Given the description of an element on the screen output the (x, y) to click on. 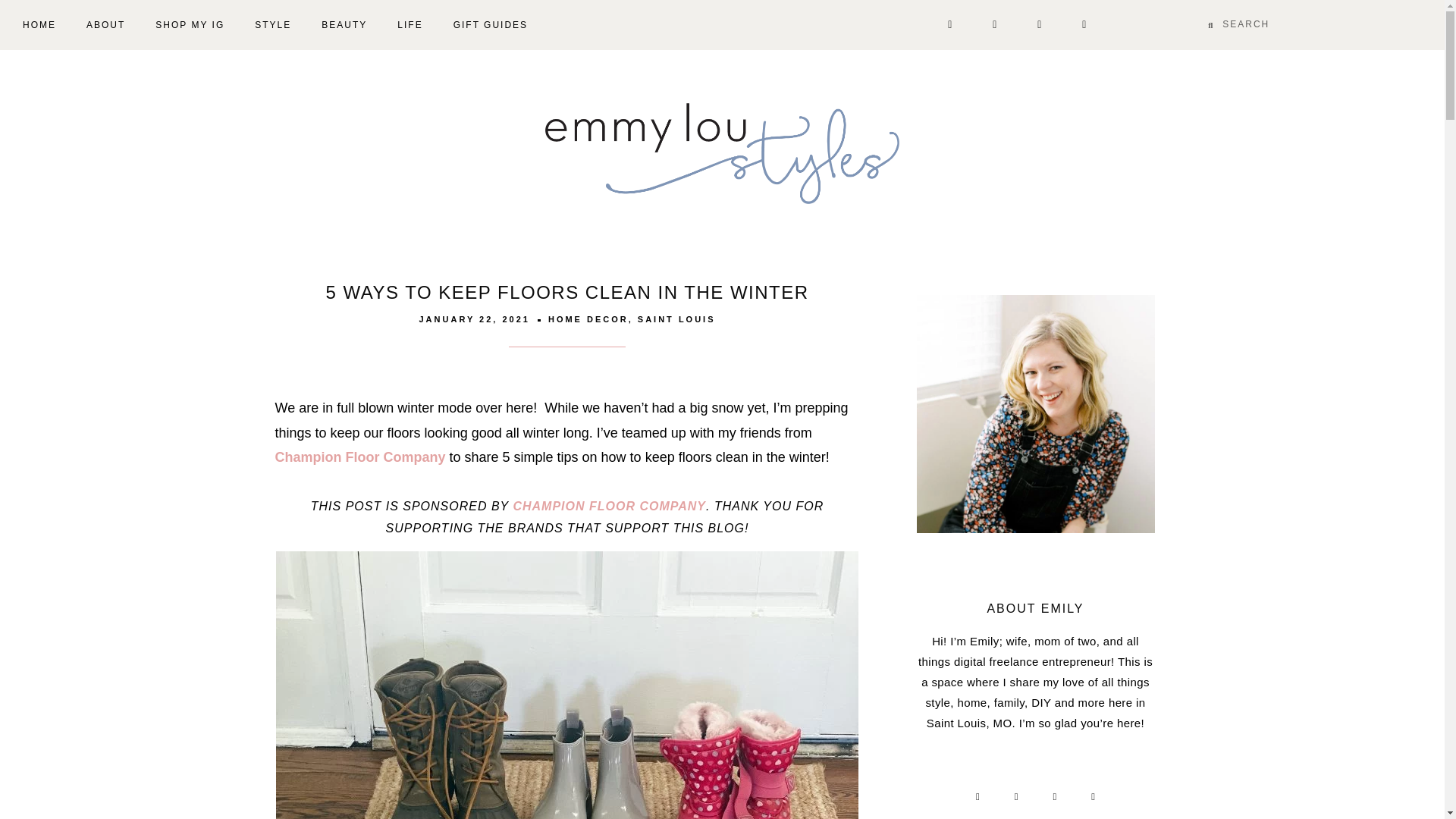
STYLE (272, 24)
GIFT GUIDES (490, 24)
BEAUTY (343, 24)
SHOP MY IG (189, 24)
HOME (39, 24)
ABOUT (105, 24)
LIFE (409, 24)
